Given the description of an element on the screen output the (x, y) to click on. 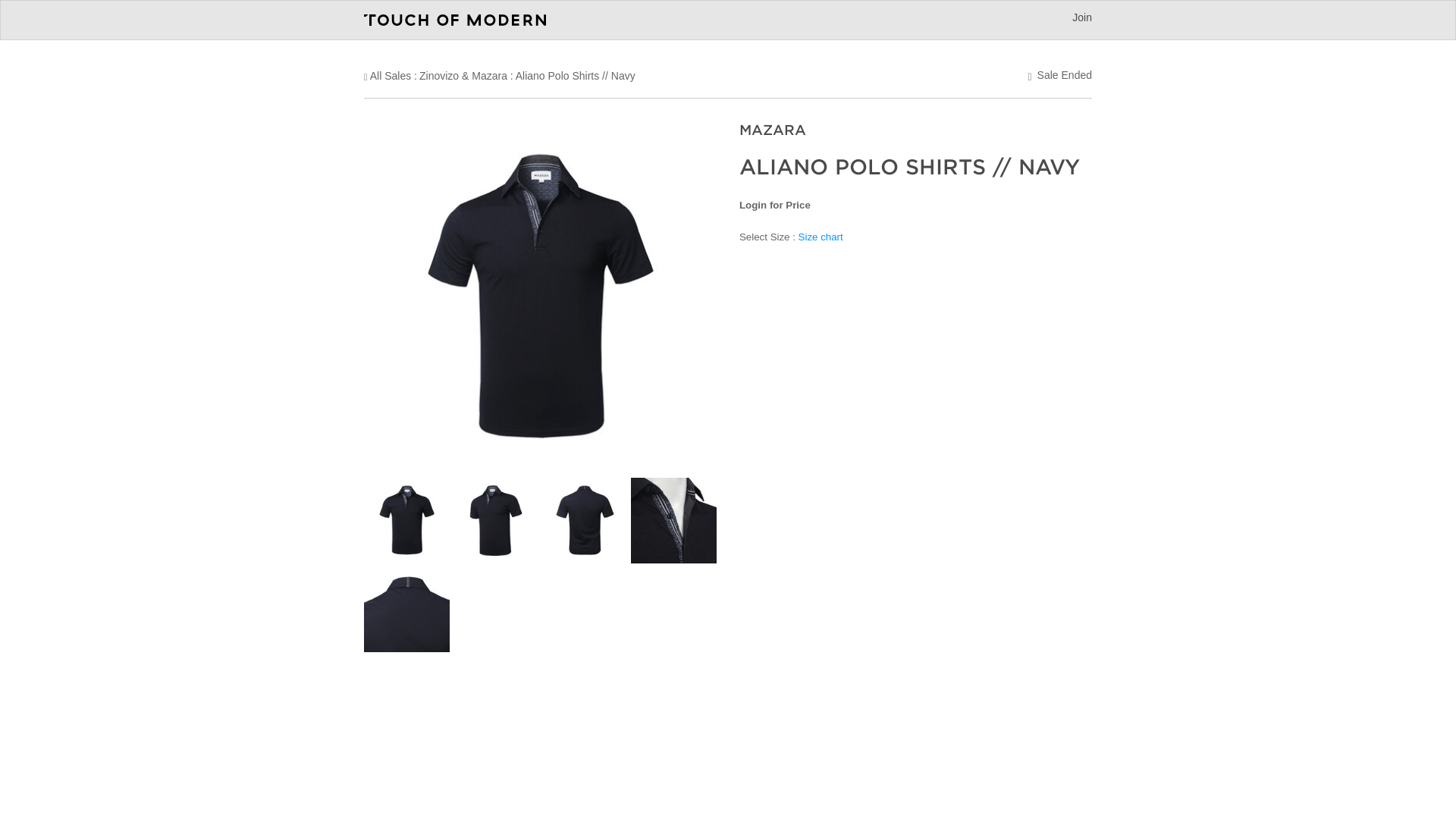
Join (1081, 17)
All Sales (389, 75)
All Sales (389, 75)
Size chart (820, 235)
